Given the description of an element on the screen output the (x, y) to click on. 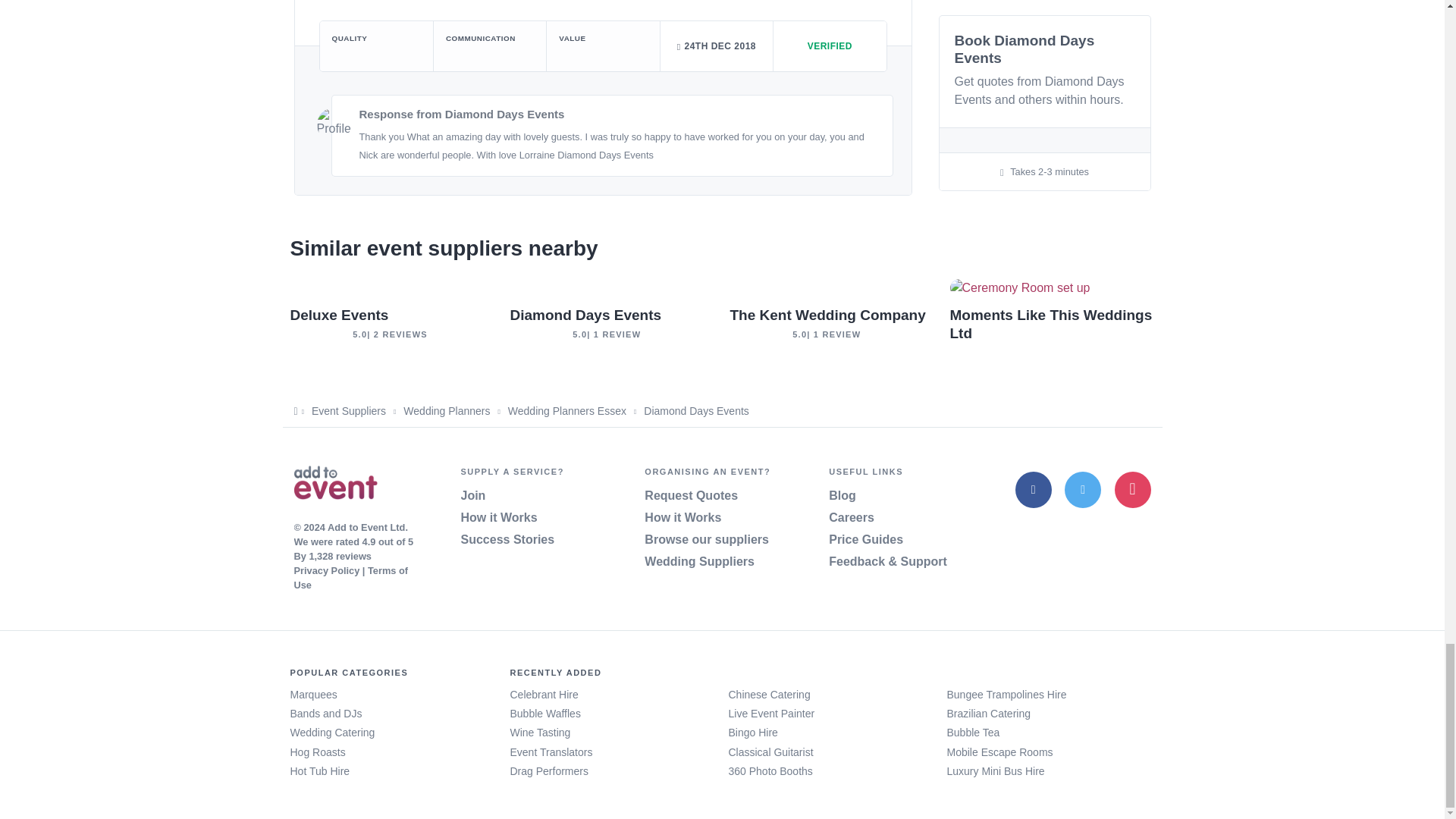
Home (335, 485)
Profile Image (333, 124)
